Given the description of an element on the screen output the (x, y) to click on. 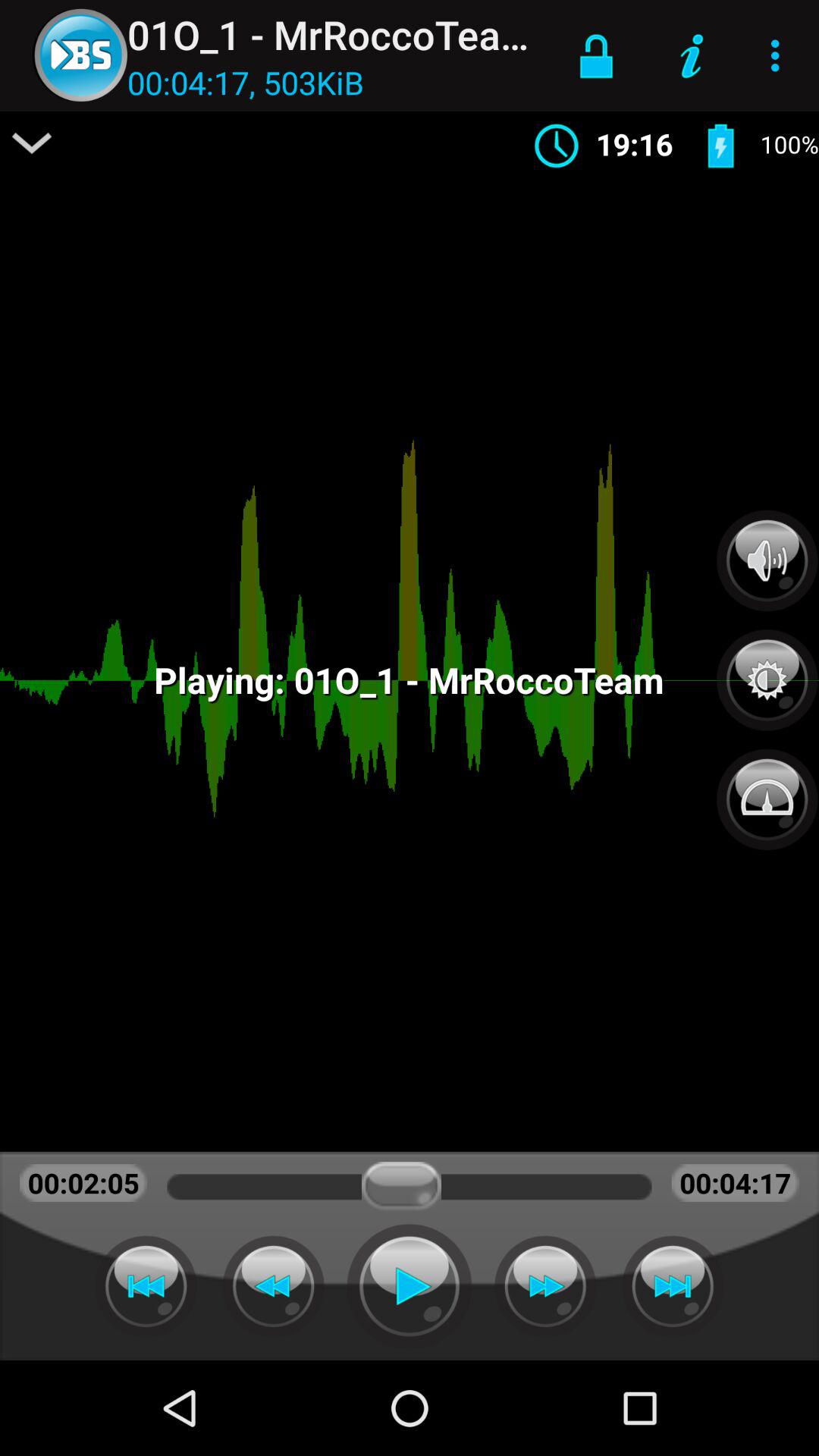
rewind (273, 1286)
